Given the description of an element on the screen output the (x, y) to click on. 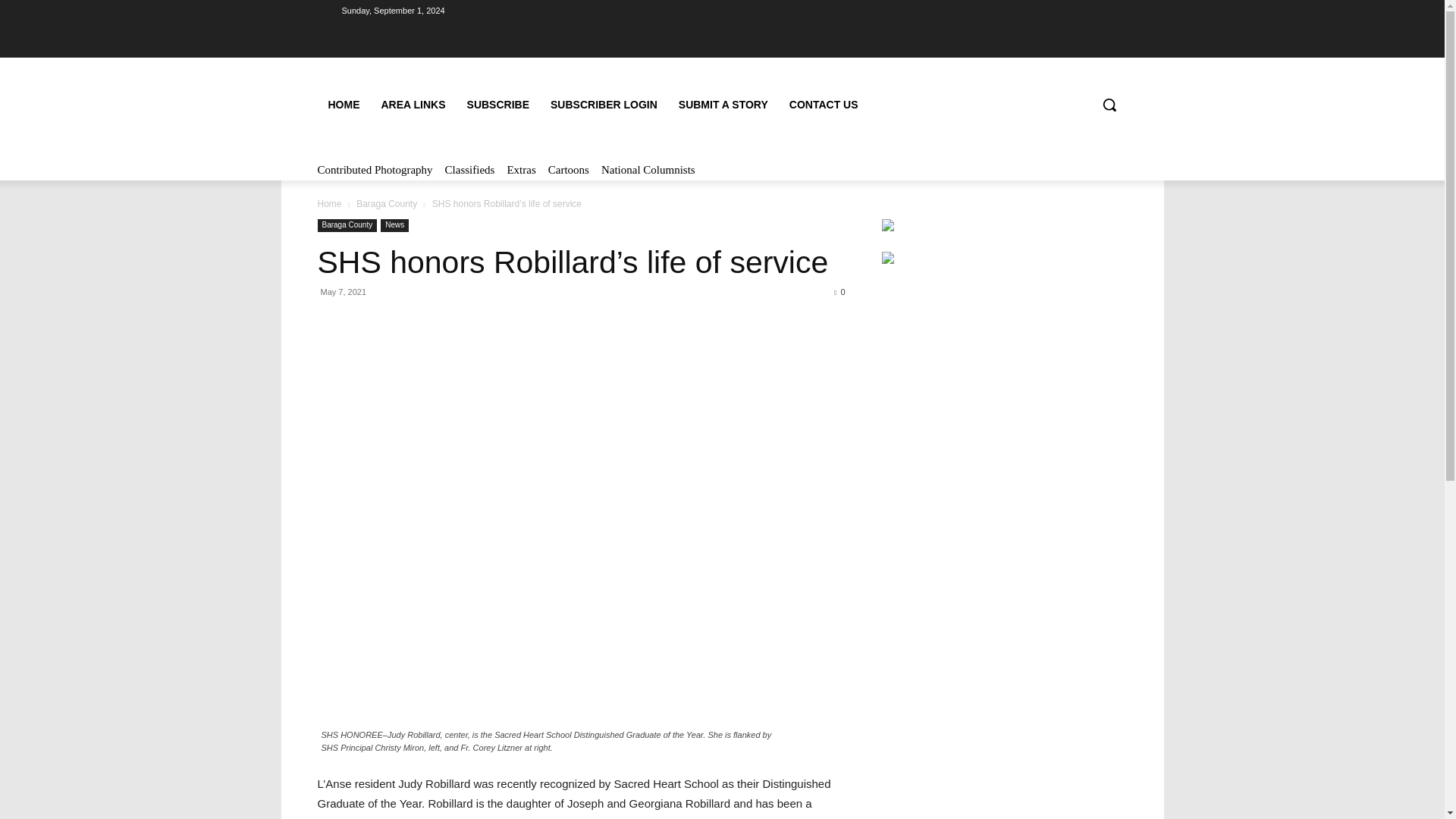
SUBSCRIBE (498, 104)
0 (839, 291)
CONTACT US (823, 104)
AREA LINKS (412, 104)
Contributed Photography (374, 169)
National Columnists (648, 169)
HOME (343, 104)
Baraga County (347, 225)
SUBSCRIBER LOGIN (604, 104)
Home (328, 204)
